Given the description of an element on the screen output the (x, y) to click on. 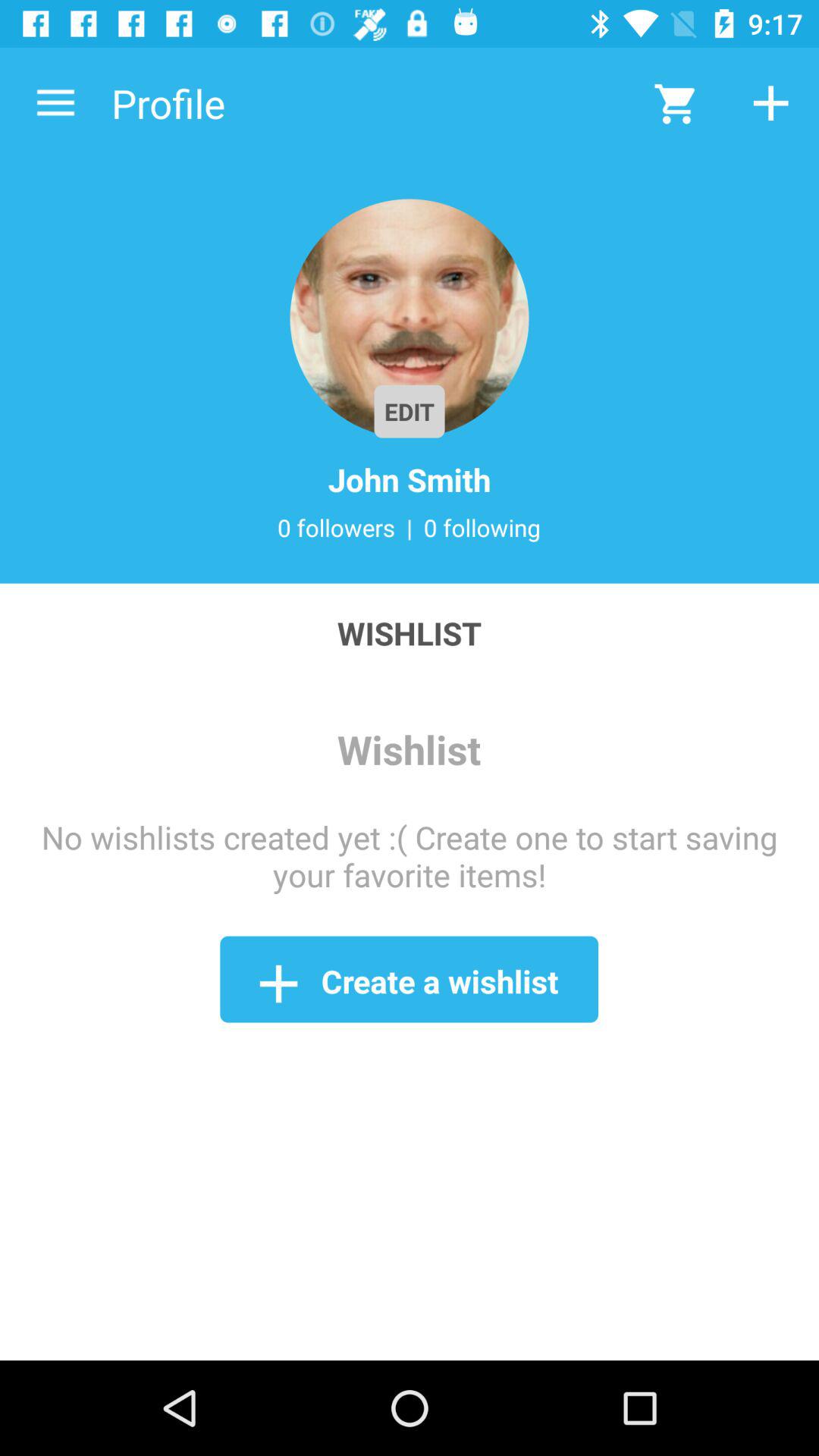
click the edit (409, 411)
